Given the description of an element on the screen output the (x, y) to click on. 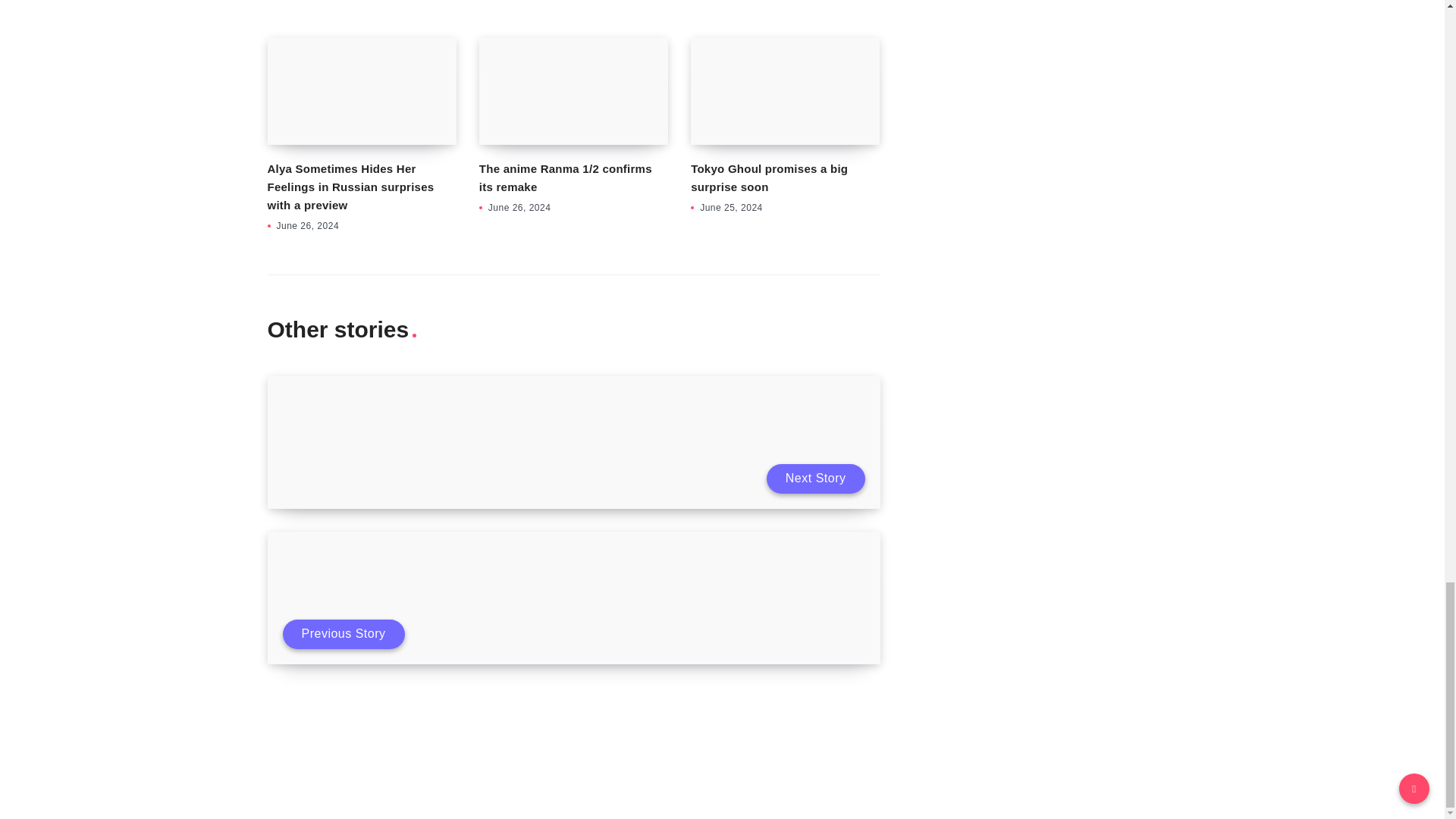
Tokyo Ghoul promises a big surprise soon (784, 90)
